Given the description of an element on the screen output the (x, y) to click on. 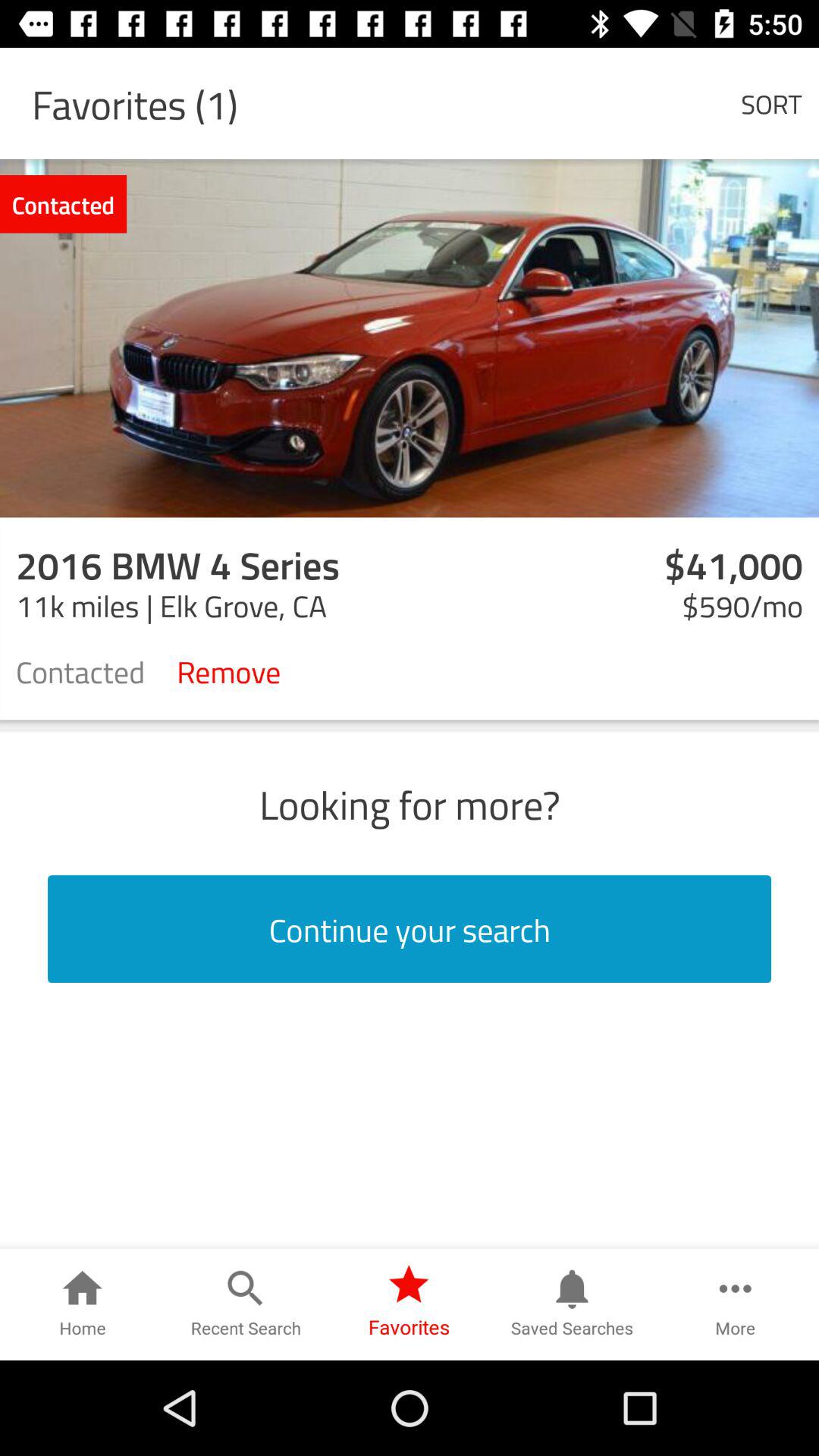
turn off continue your search item (409, 928)
